Given the description of an element on the screen output the (x, y) to click on. 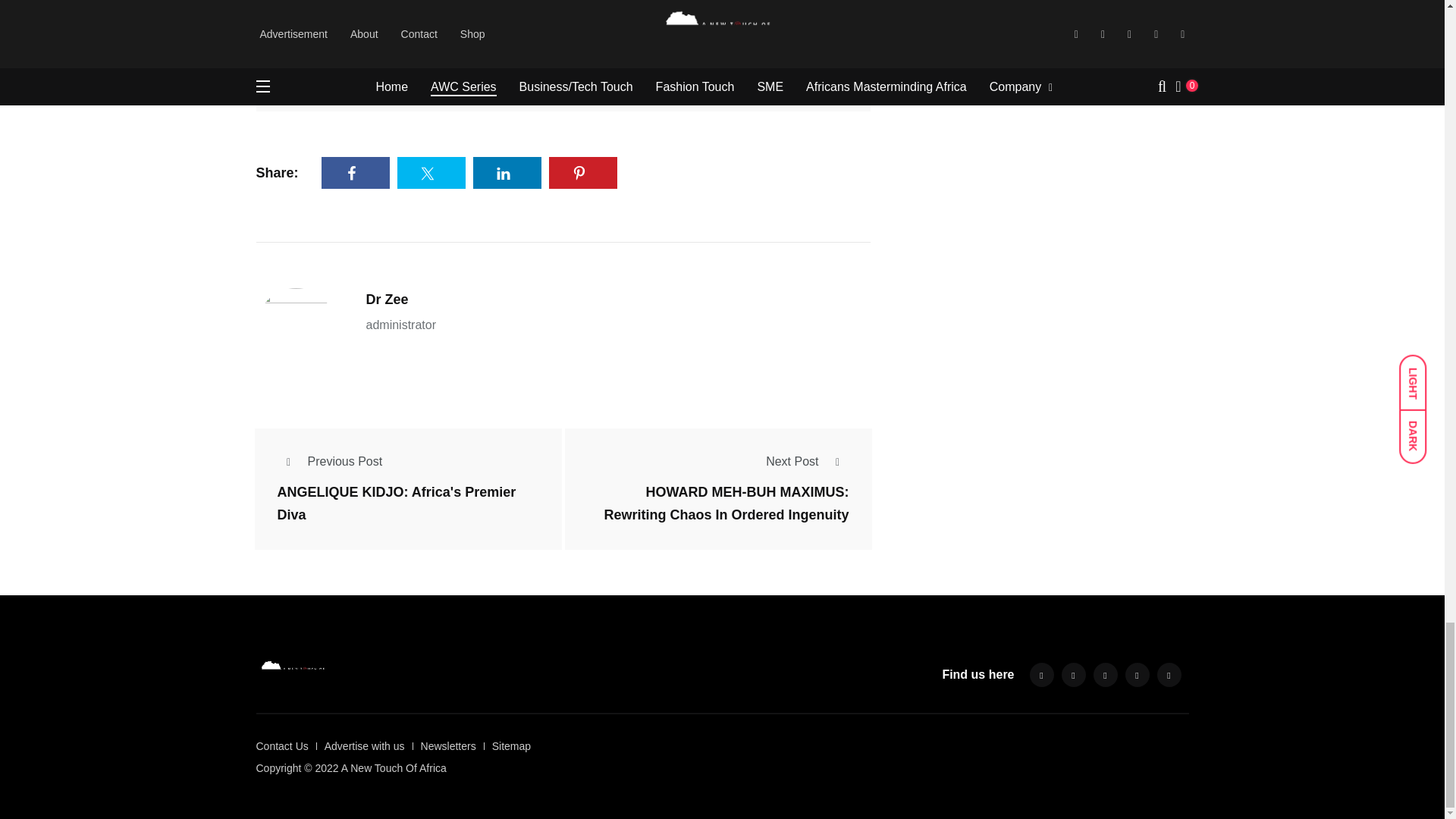
Share on Twitter (431, 172)
Share on Facebook (355, 172)
Share on Pinterest (582, 172)
Share on LinkedIn (507, 172)
